Given the description of an element on the screen output the (x, y) to click on. 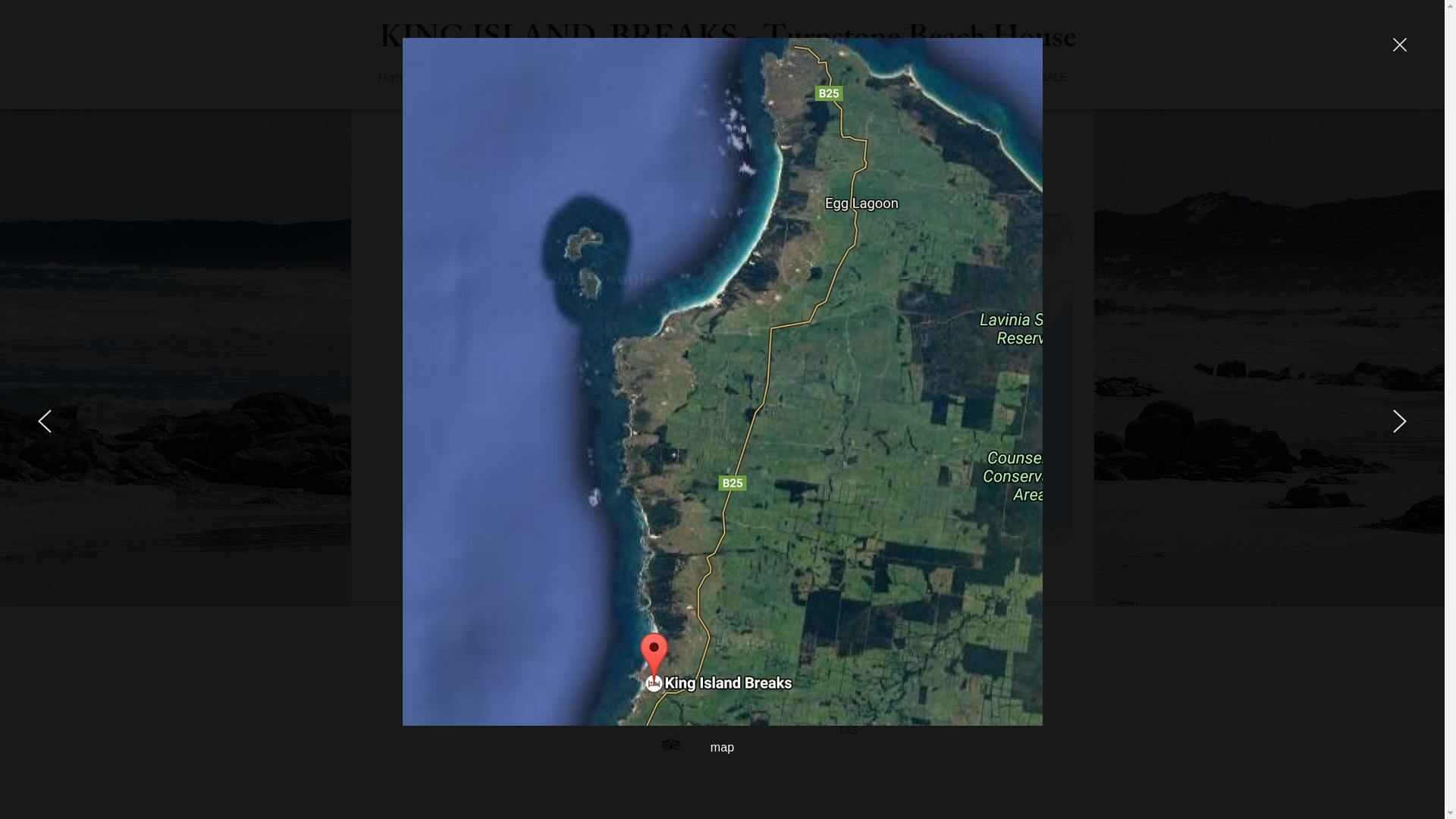
Accommodation Element type: text (505, 77)
Gallery Element type: text (807, 77)
LAND FOR SALE Element type: text (1023, 77)
Reviews Element type: text (902, 77)
kingislandbreaks@gmail.com Element type: text (511, 680)
Contact Element type: text (715, 77)
Home Element type: text (393, 77)
